Given the description of an element on the screen output the (x, y) to click on. 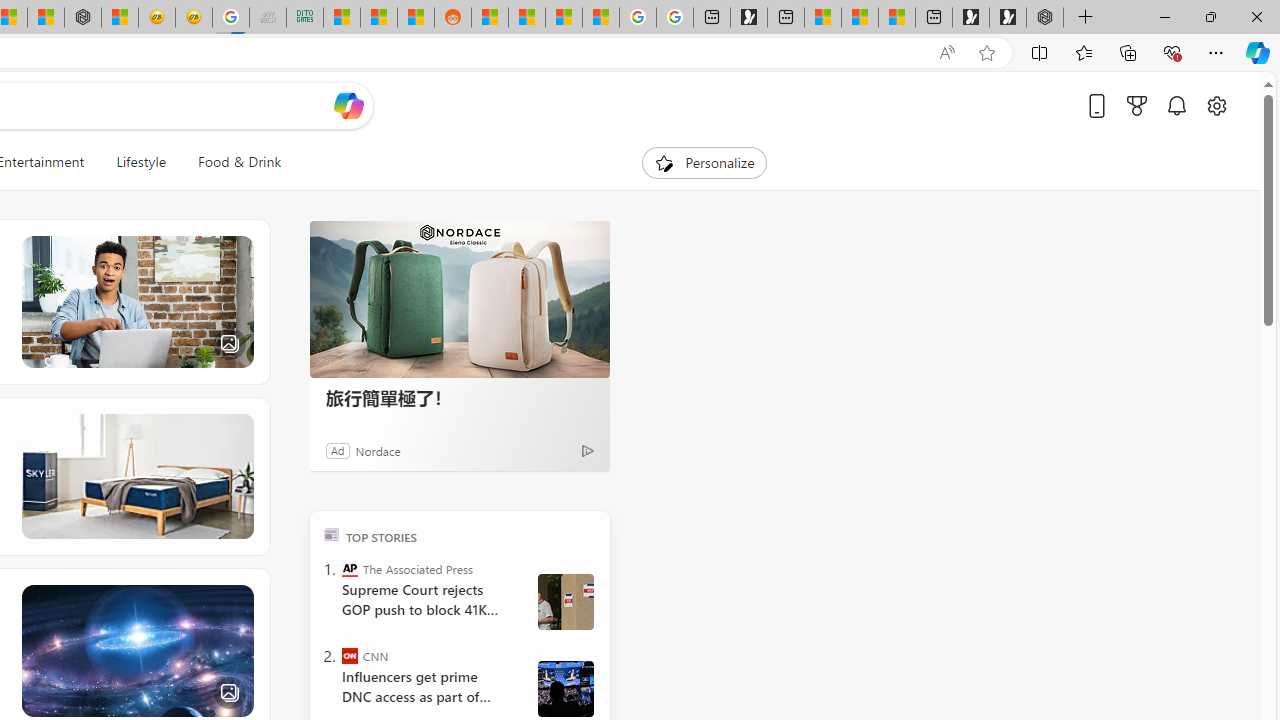
Nordace - #1 Japanese Best-Seller - Siena Smart Backpack (83, 17)
 ATS_2336.jpg (565, 688)
